Given the description of an element on the screen output the (x, y) to click on. 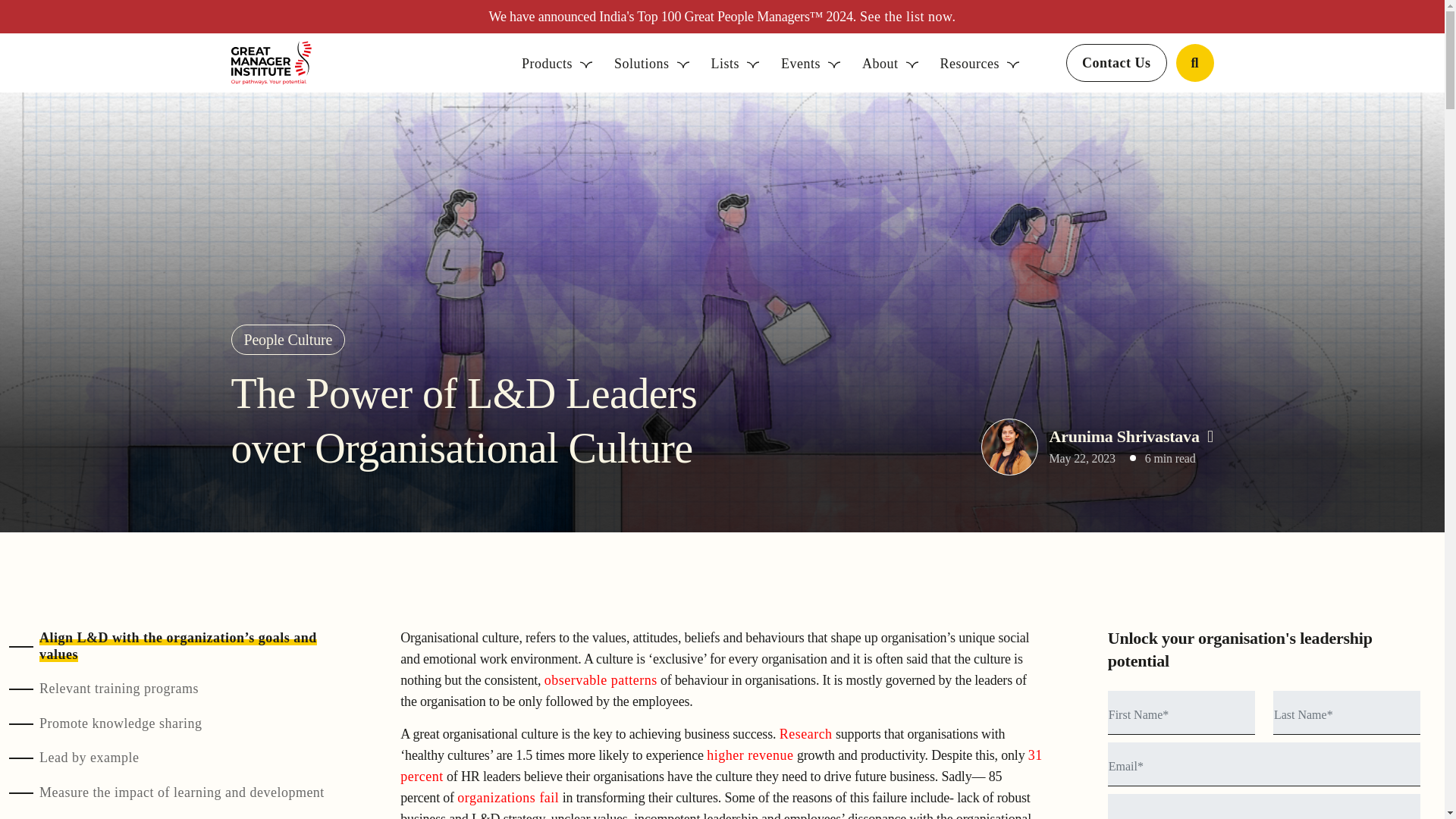
Lead by example (88, 758)
Lead by example (88, 758)
Relevant training programs (118, 688)
Products (556, 64)
Measure the impact of learning and development (181, 792)
Measure the impact of learning and development (181, 792)
See the list now. (905, 16)
Lists (735, 64)
About (889, 64)
Promote knowledge sharing (120, 723)
Promote knowledge sharing (120, 723)
Contact Us (738, 62)
Events (1116, 62)
Relevant training programs (810, 64)
